Given the description of an element on the screen output the (x, y) to click on. 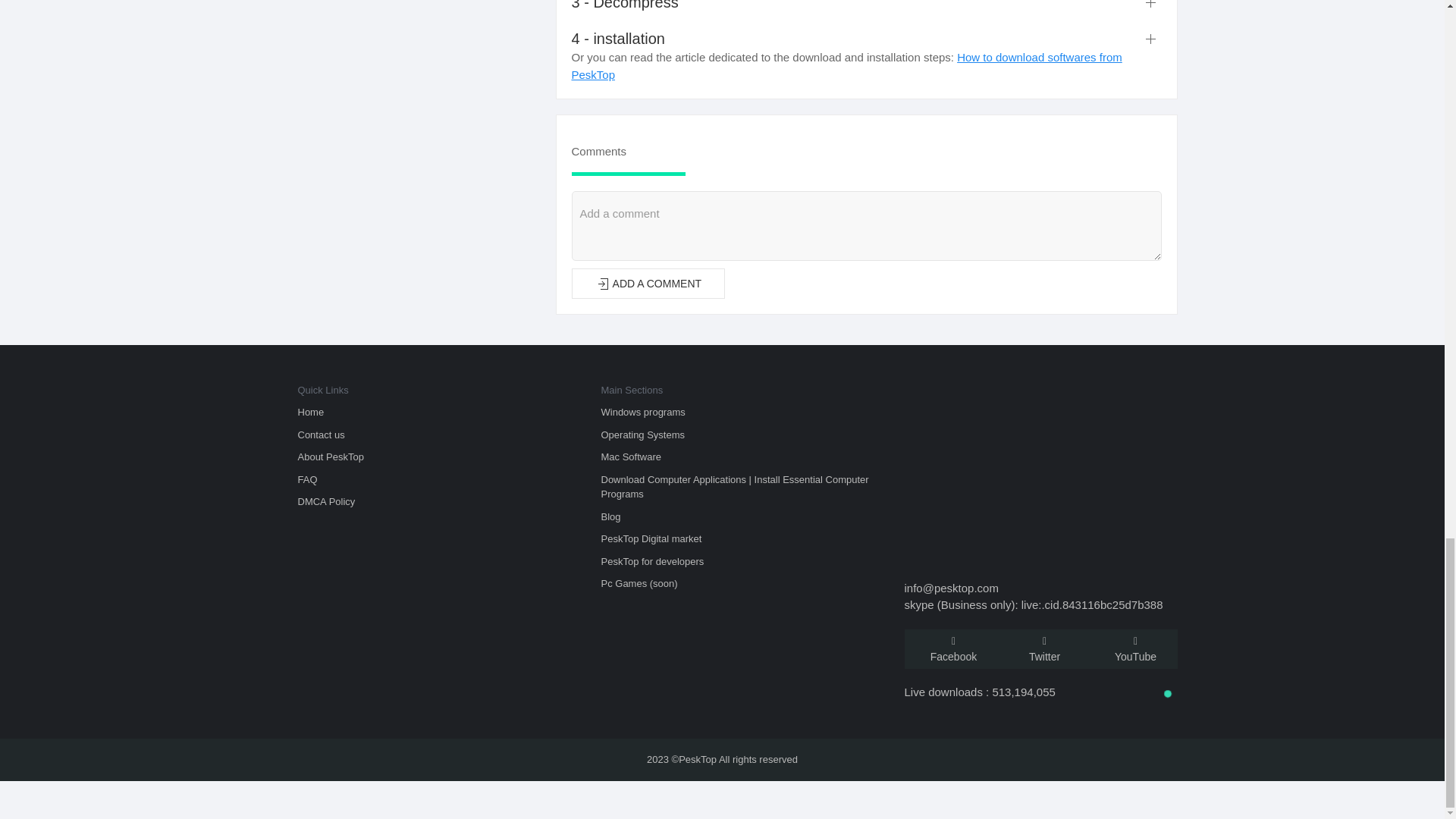
3 - Decompress (866, 6)
ADD A COMMENT (648, 283)
4 - installation (866, 38)
How to download softwares from PeskTop (847, 65)
